Given the description of an element on the screen output the (x, y) to click on. 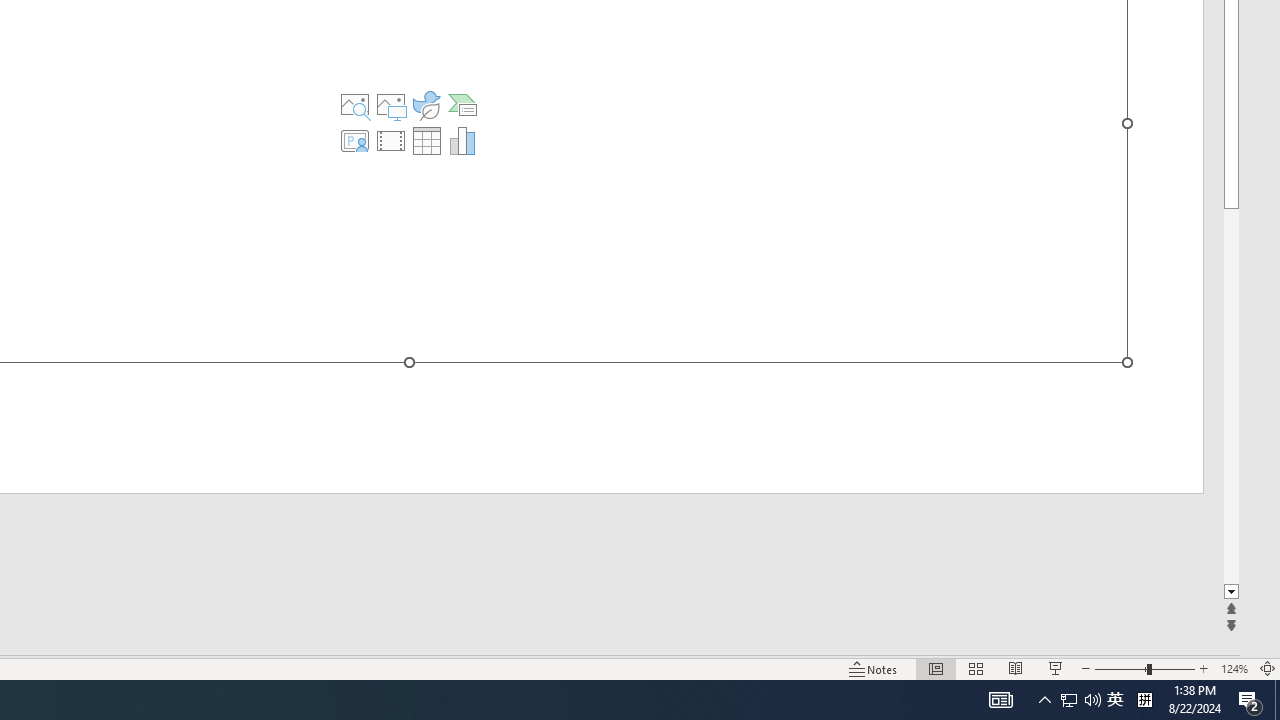
Stock Images (355, 104)
Zoom 124% (1234, 668)
Insert an Icon (426, 104)
Pictures (391, 104)
Insert a SmartArt Graphic (462, 104)
Insert Table (426, 140)
Insert Video (391, 140)
Insert Cameo (355, 140)
